Given the description of an element on the screen output the (x, y) to click on. 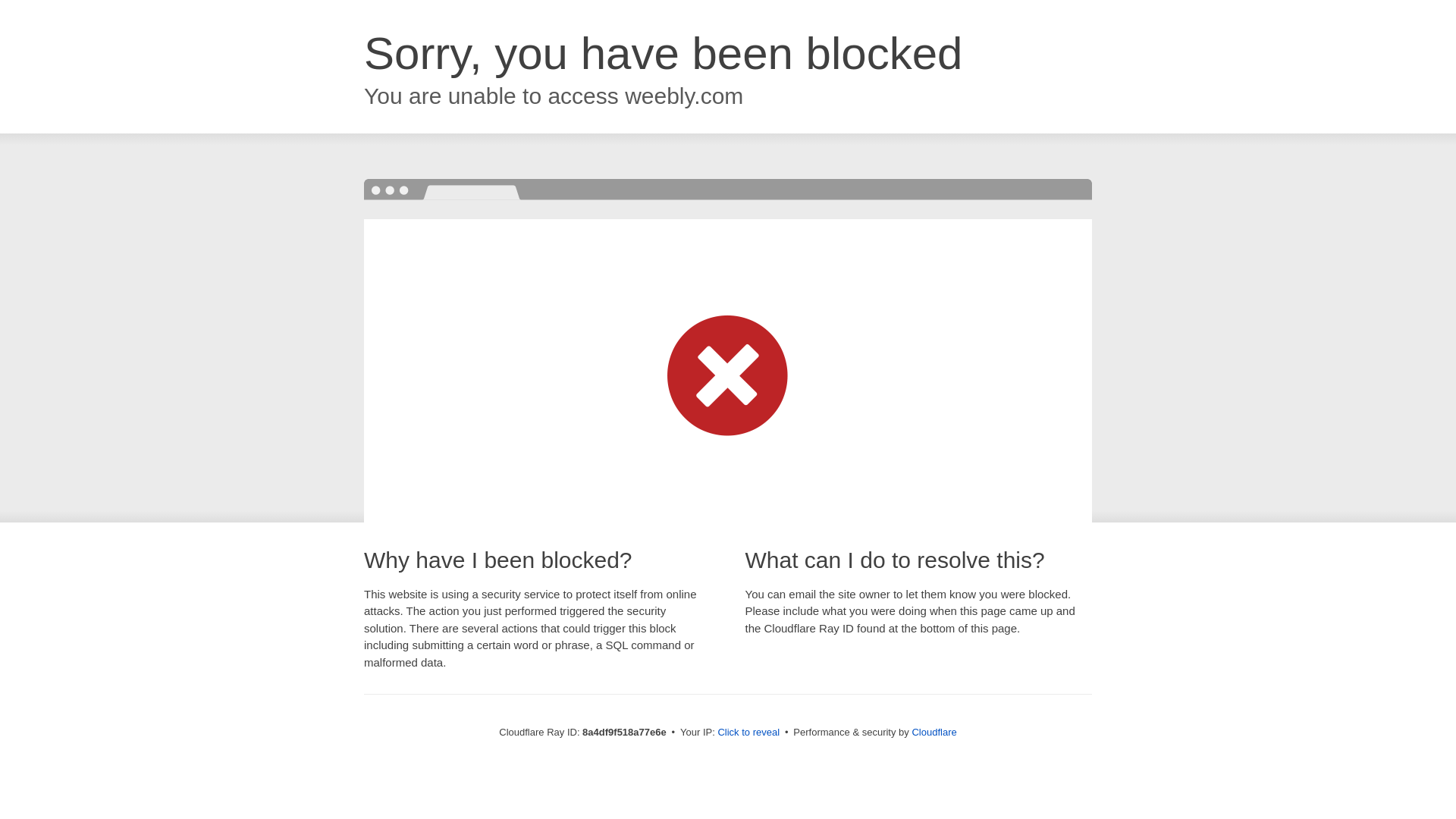
Cloudflare (933, 731)
Click to reveal (747, 732)
